Given the description of an element on the screen output the (x, y) to click on. 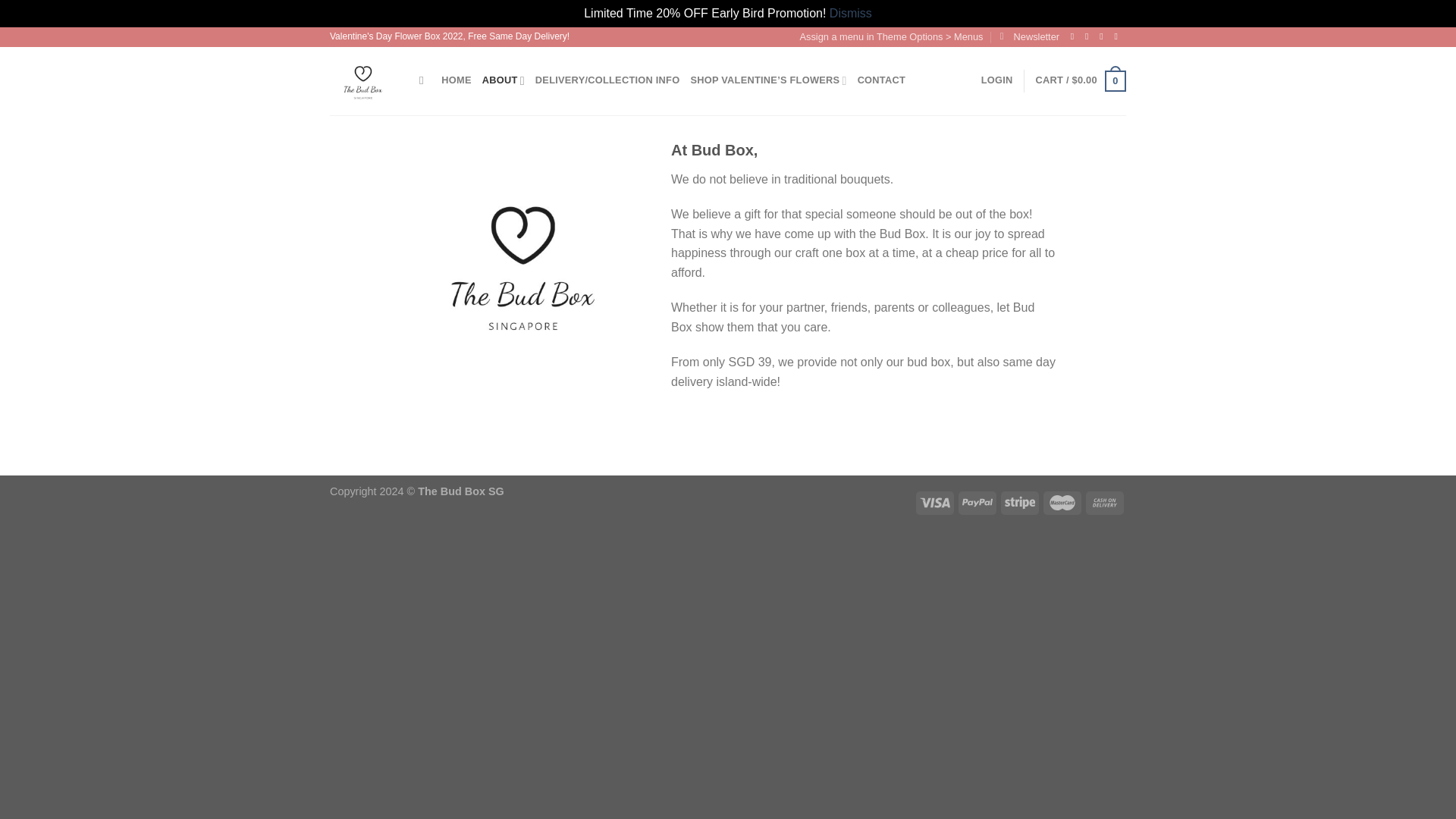
CONTACT (881, 80)
LOGIN (997, 80)
The Bud Box - Early Bird Discount! Limited stocks left! (363, 80)
Newsletter (1029, 36)
Cart (1080, 80)
Dismiss (850, 12)
HOME (455, 80)
ABOUT (502, 80)
Sign up for Newsletter (1029, 36)
